Given the description of an element on the screen output the (x, y) to click on. 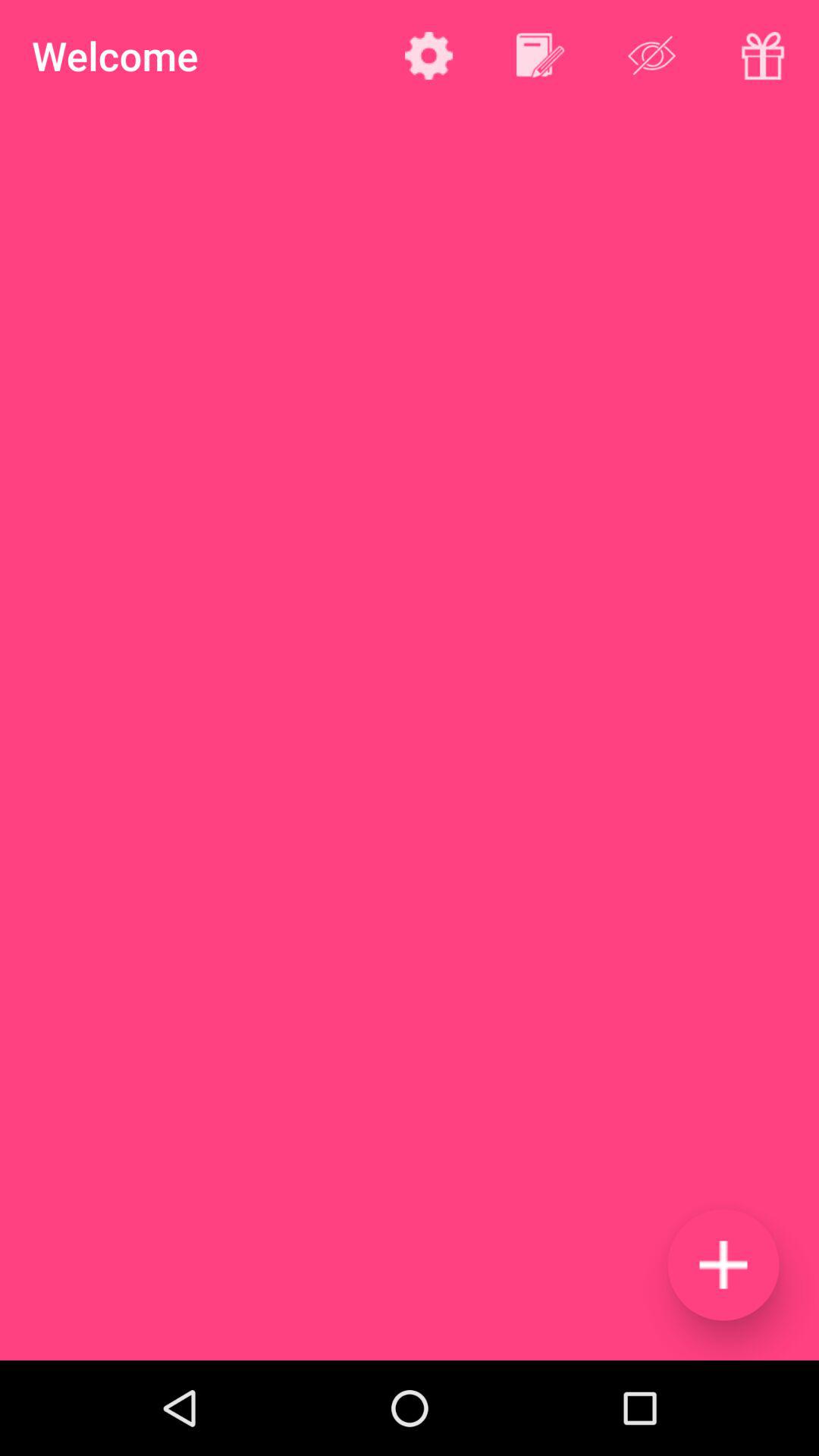
add item (723, 1264)
